Given the description of an element on the screen output the (x, y) to click on. 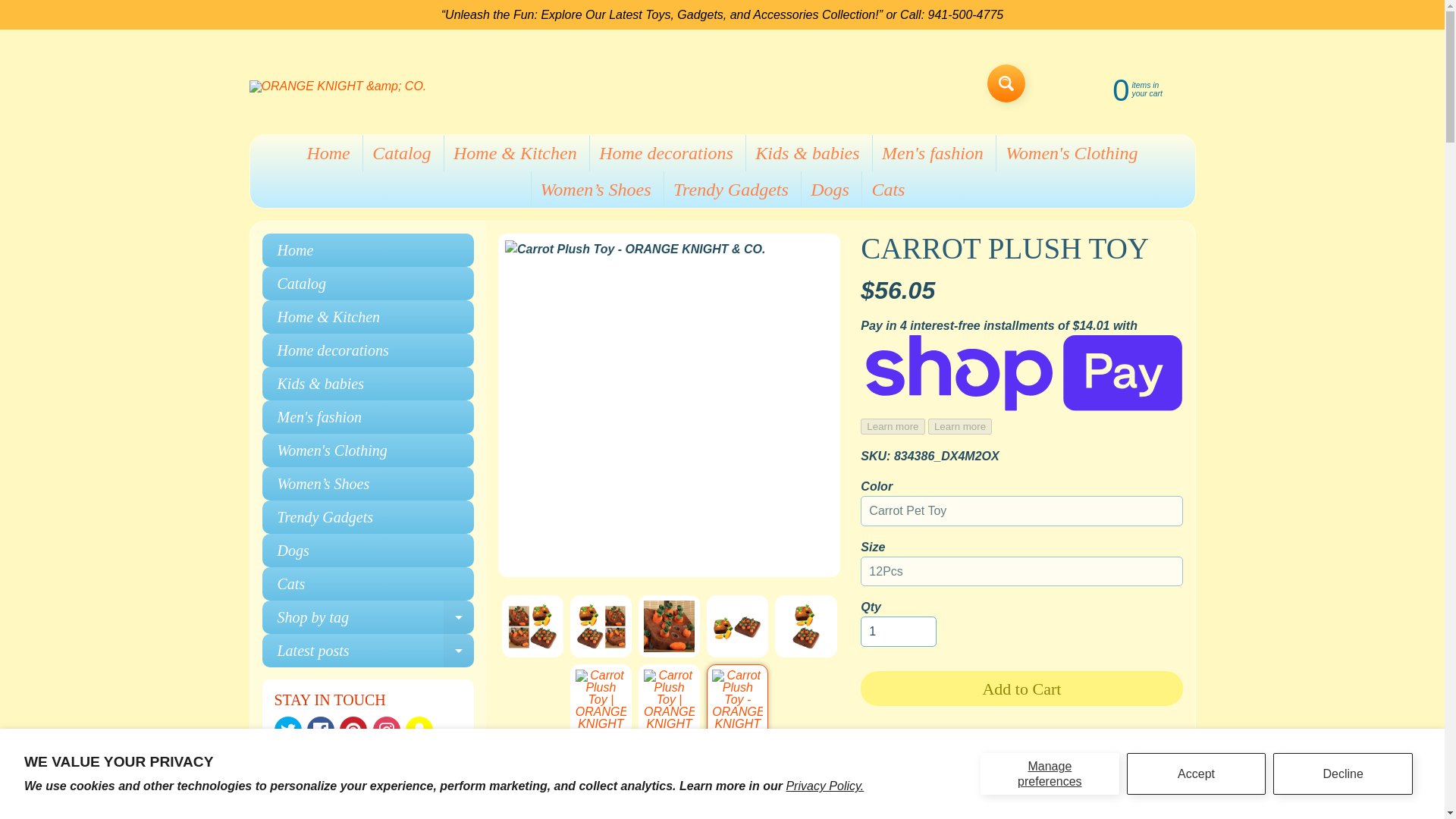
Privacy Policy. (824, 785)
Home decorations (665, 153)
Expand child menu (459, 616)
Men's fashion (932, 153)
Dogs (368, 550)
Manage preferences (368, 616)
Women's Clothing (1049, 772)
Accept (1071, 153)
1 (1196, 772)
